Given the description of an element on the screen output the (x, y) to click on. 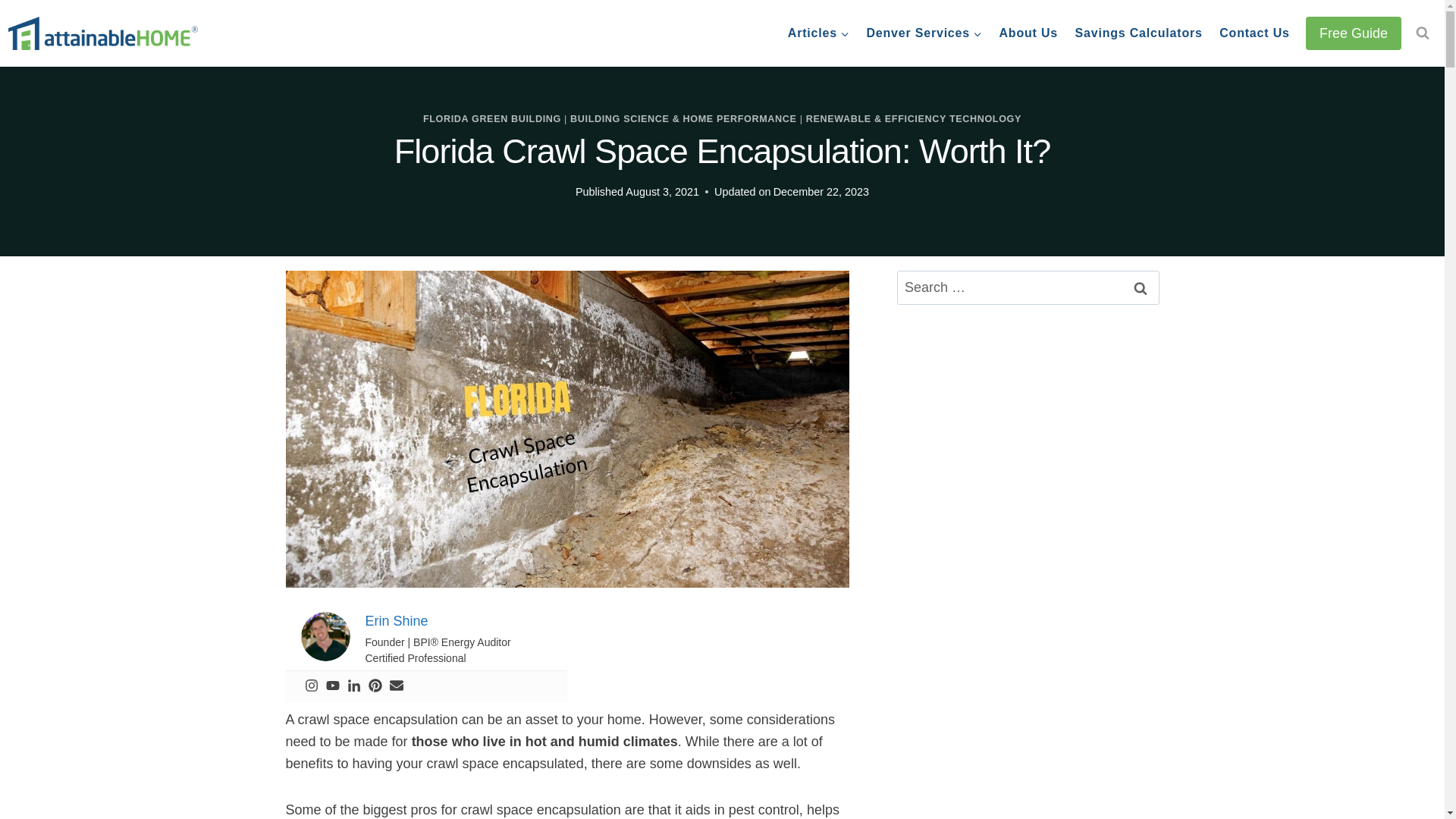
Search (1139, 287)
Youtube (332, 686)
Instagram (311, 686)
Articles (818, 33)
Pinterest (374, 686)
User email (396, 686)
Linkedin (354, 686)
Search (1139, 287)
